Given the description of an element on the screen output the (x, y) to click on. 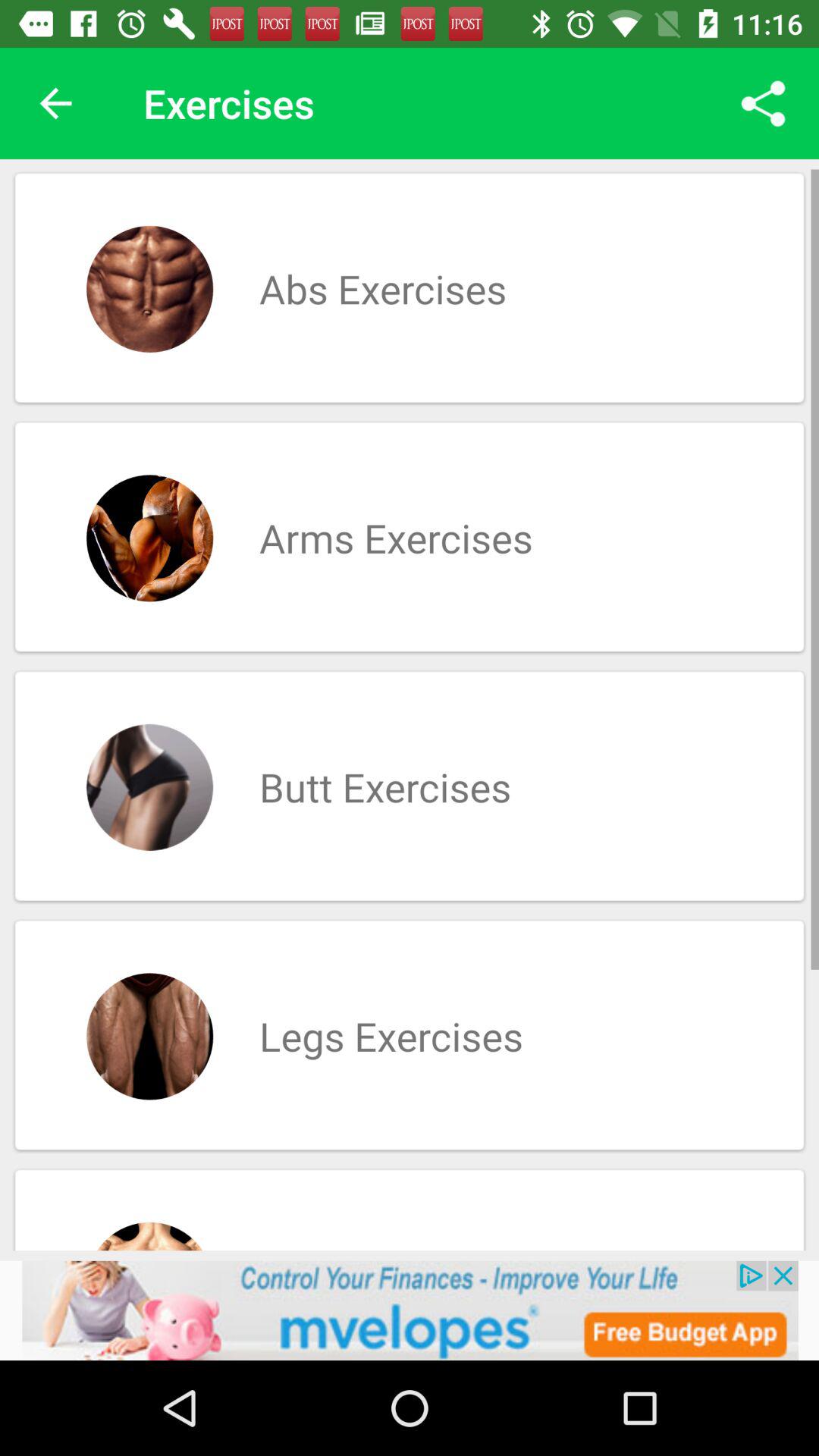
advertisement (409, 1310)
